Given the description of an element on the screen output the (x, y) to click on. 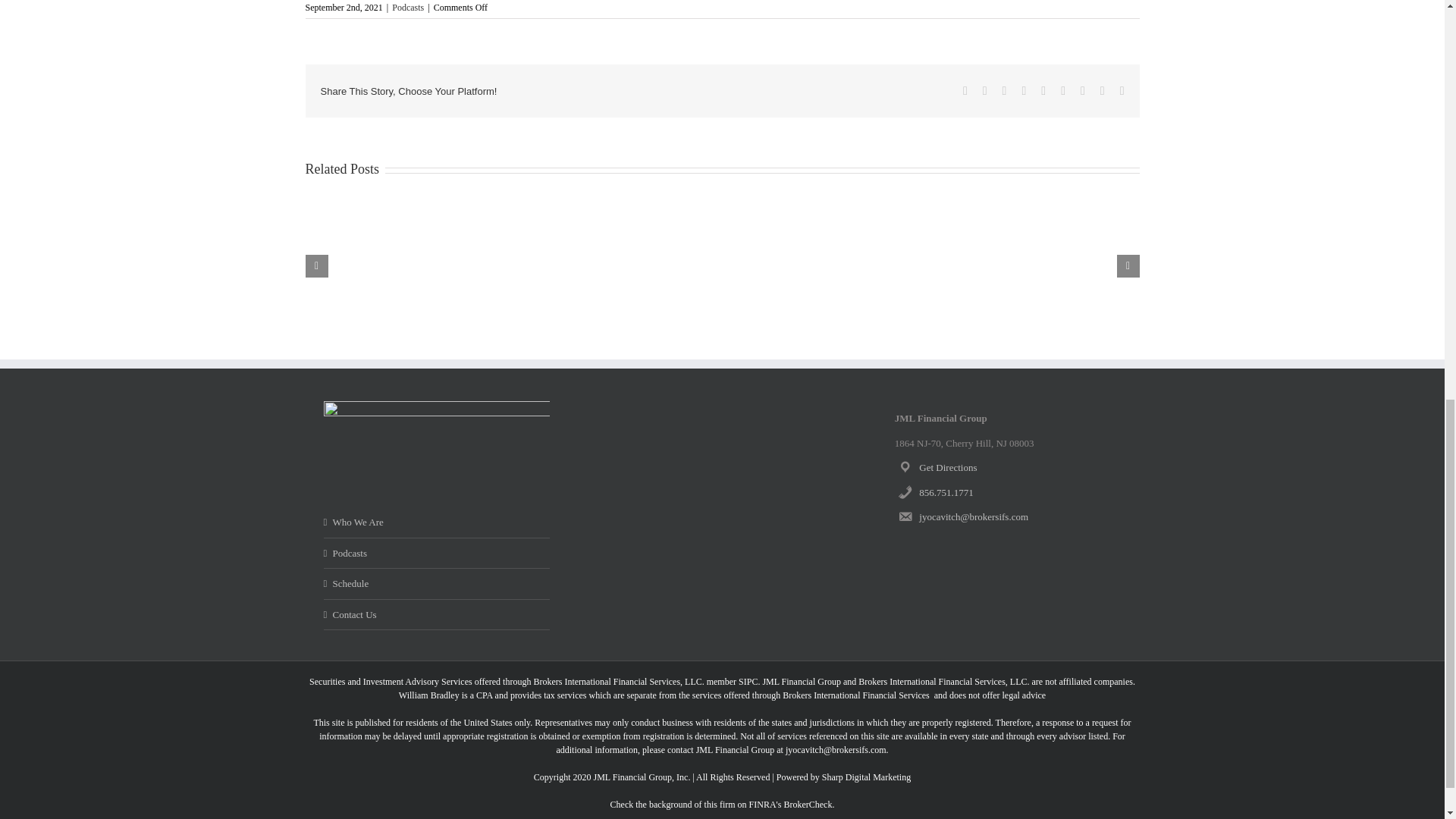
Podcasts (407, 7)
